Given the description of an element on the screen output the (x, y) to click on. 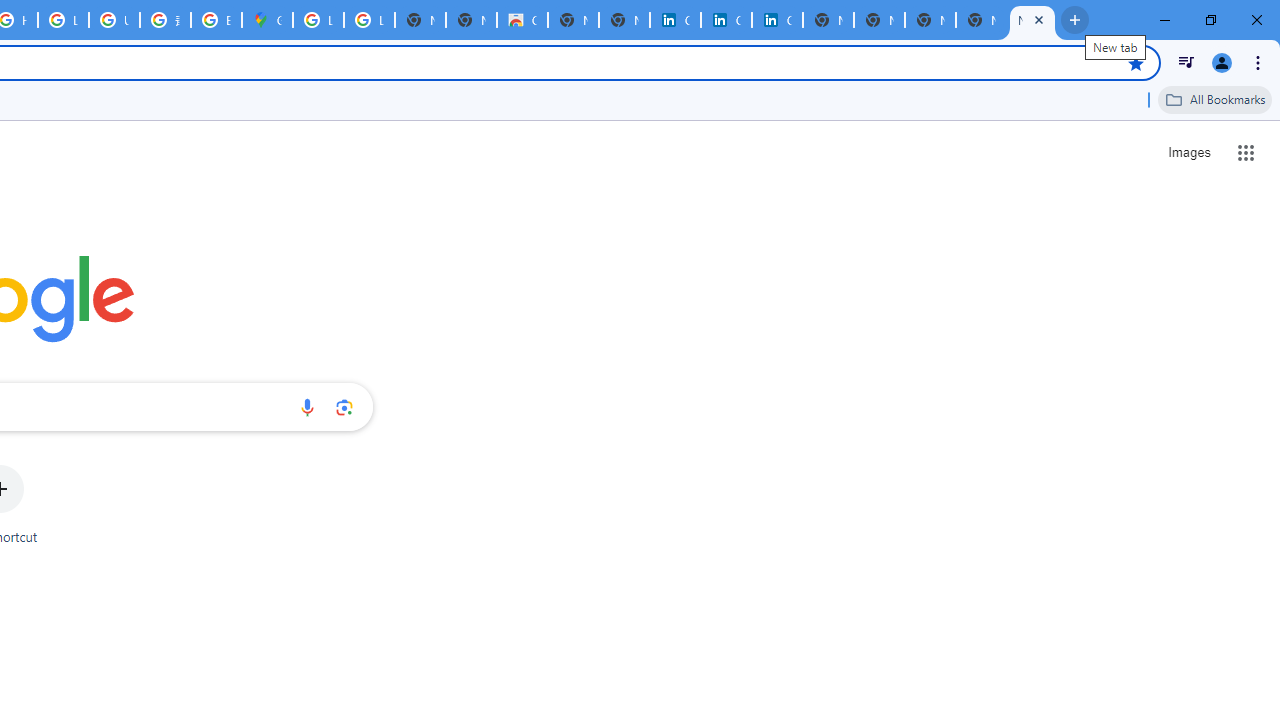
Cookie Policy | LinkedIn (675, 20)
New Tab (930, 20)
Copyright Policy (776, 20)
Explore new street-level details - Google Maps Help (215, 20)
Cookie Policy | LinkedIn (726, 20)
Google Maps (267, 20)
Chrome Web Store (521, 20)
